Given the description of an element on the screen output the (x, y) to click on. 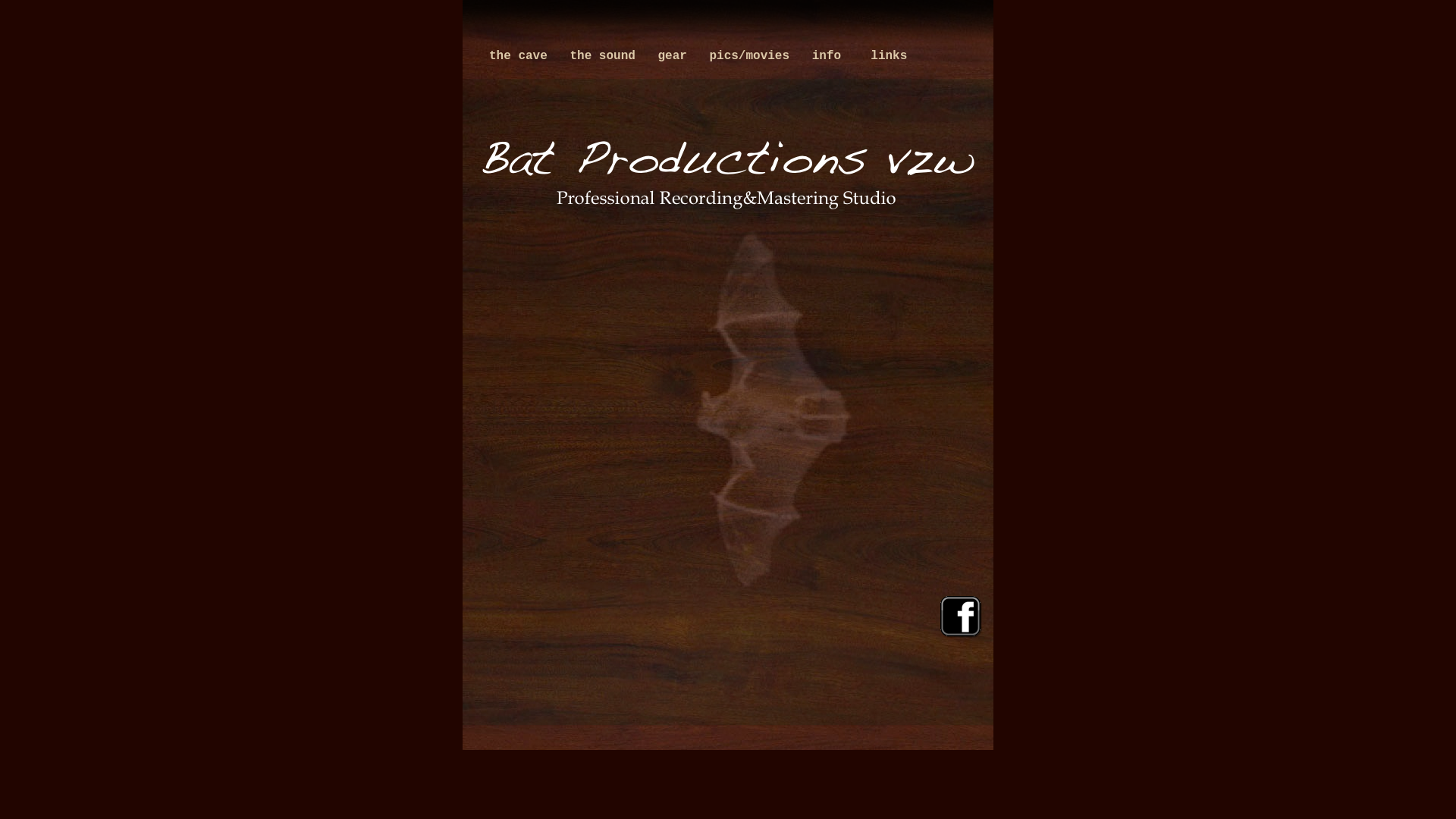
the sound Element type: text (605, 55)
pics/movies Element type: text (752, 55)
info Element type: text (830, 55)
the cave Element type: text (521, 55)
 links Element type: text (885, 55)
gear Element type: text (675, 55)
